Given the description of an element on the screen output the (x, y) to click on. 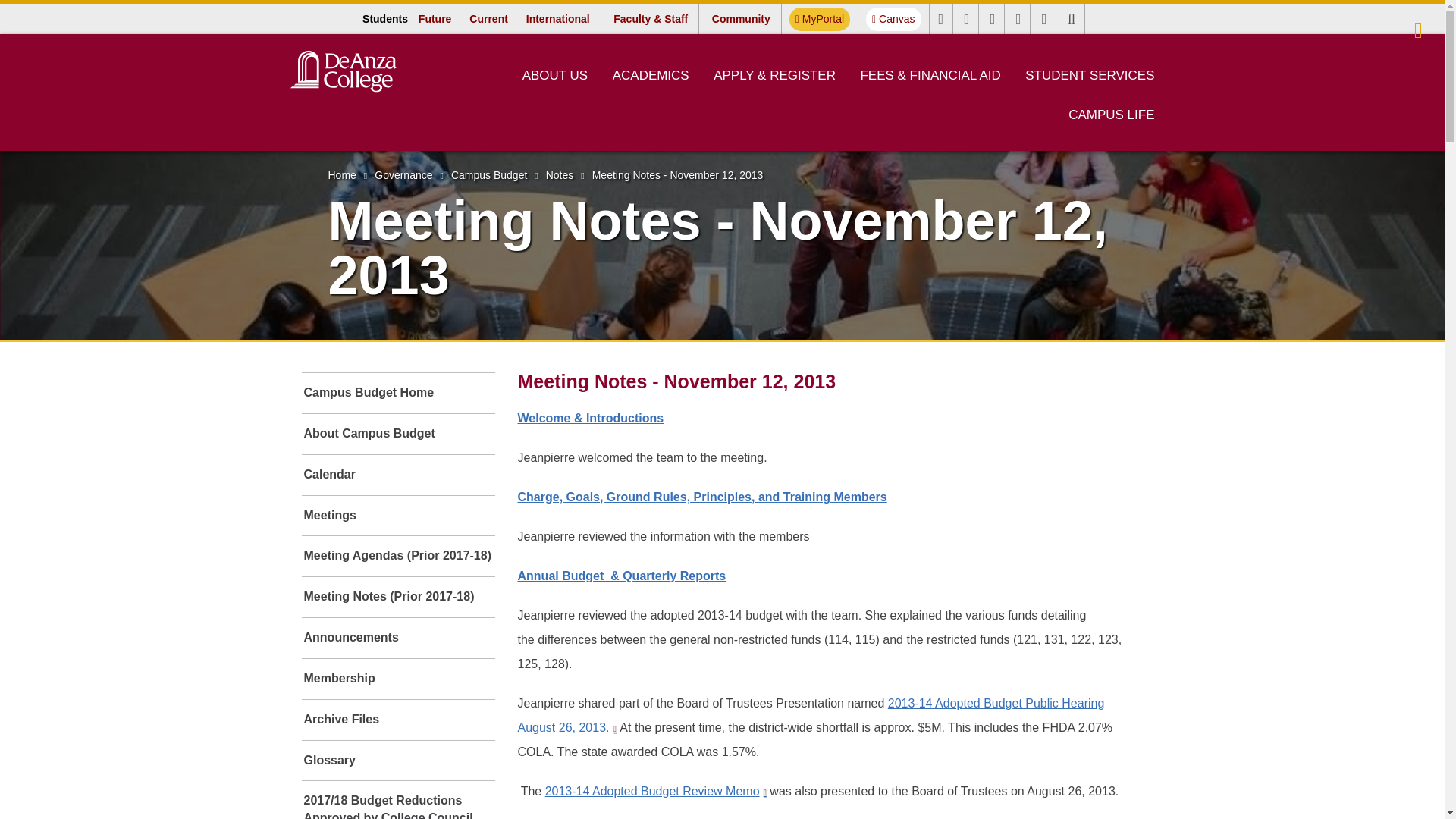
ACADEMICS (651, 75)
Current (488, 18)
Canvas (893, 19)
Campus Budget Calendar (398, 475)
Calendar (398, 475)
Campus Budget Meeting Agendas (398, 556)
Campus Budget Meeting Notes (398, 597)
Meetings (398, 516)
Community (740, 18)
Glossary (398, 761)
